Given the description of an element on the screen output the (x, y) to click on. 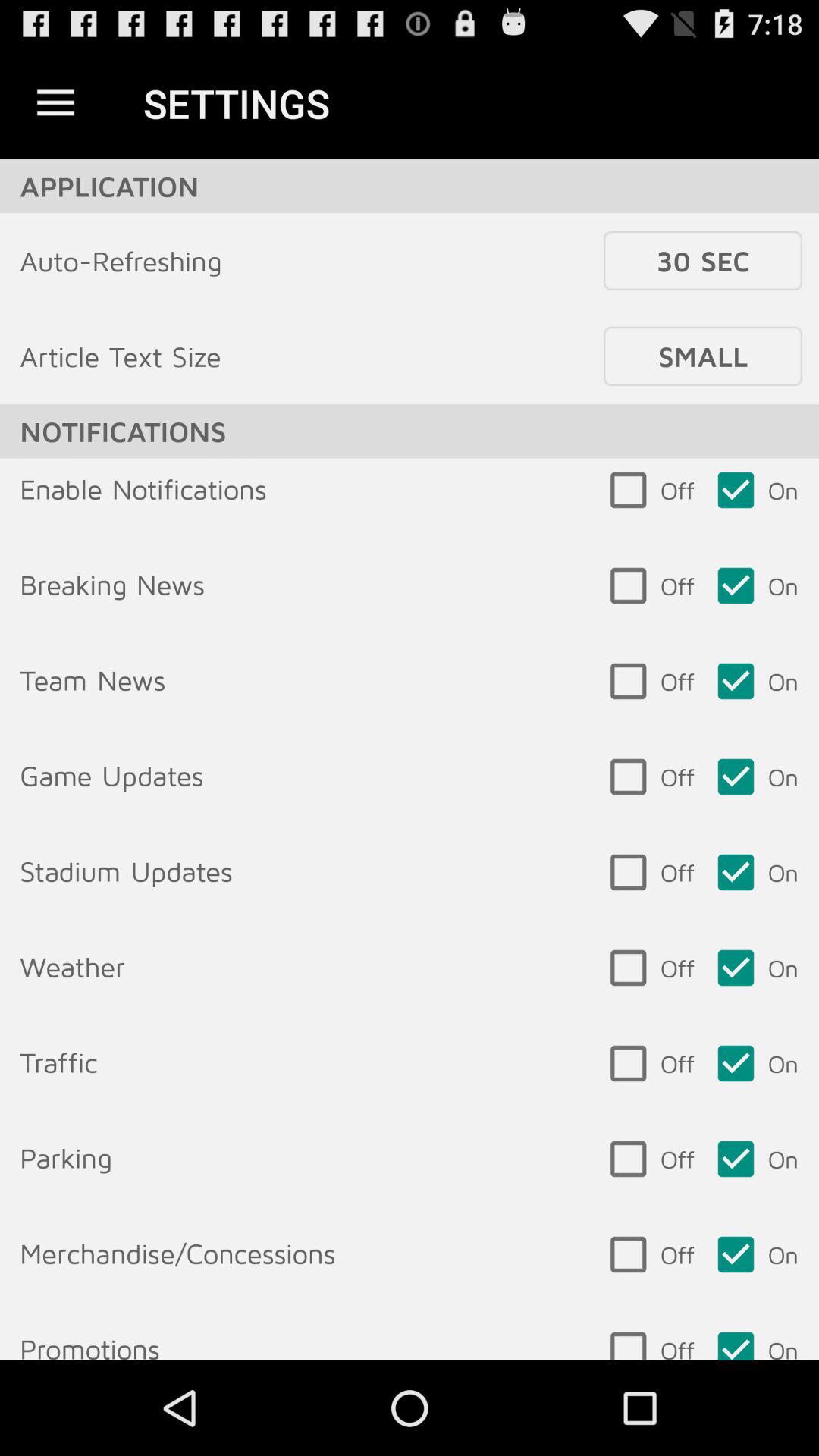
click icon next to the settings icon (55, 103)
